Given the description of an element on the screen output the (x, y) to click on. 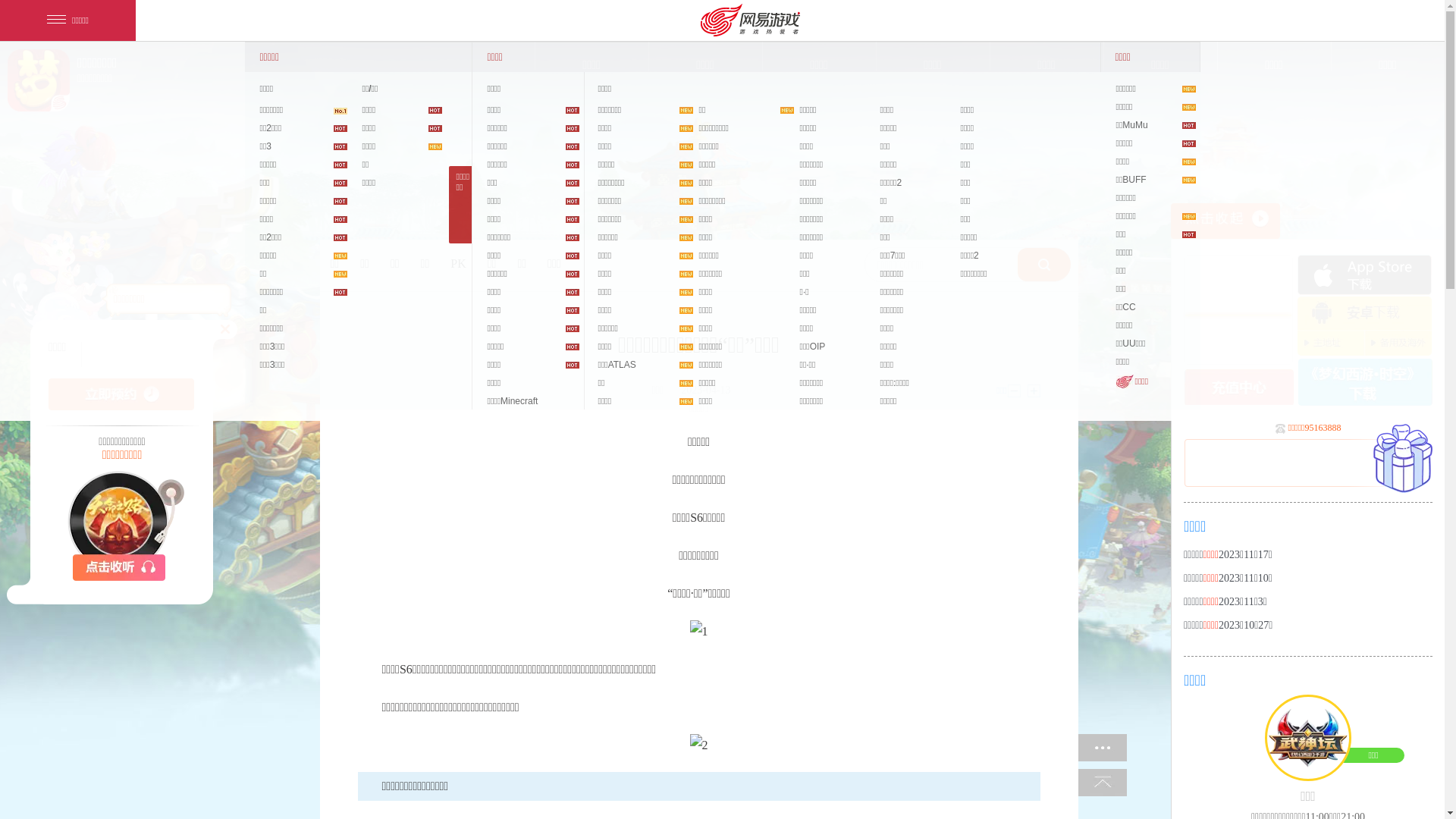
PK Element type: text (457, 263)
